Given the description of an element on the screen output the (x, y) to click on. 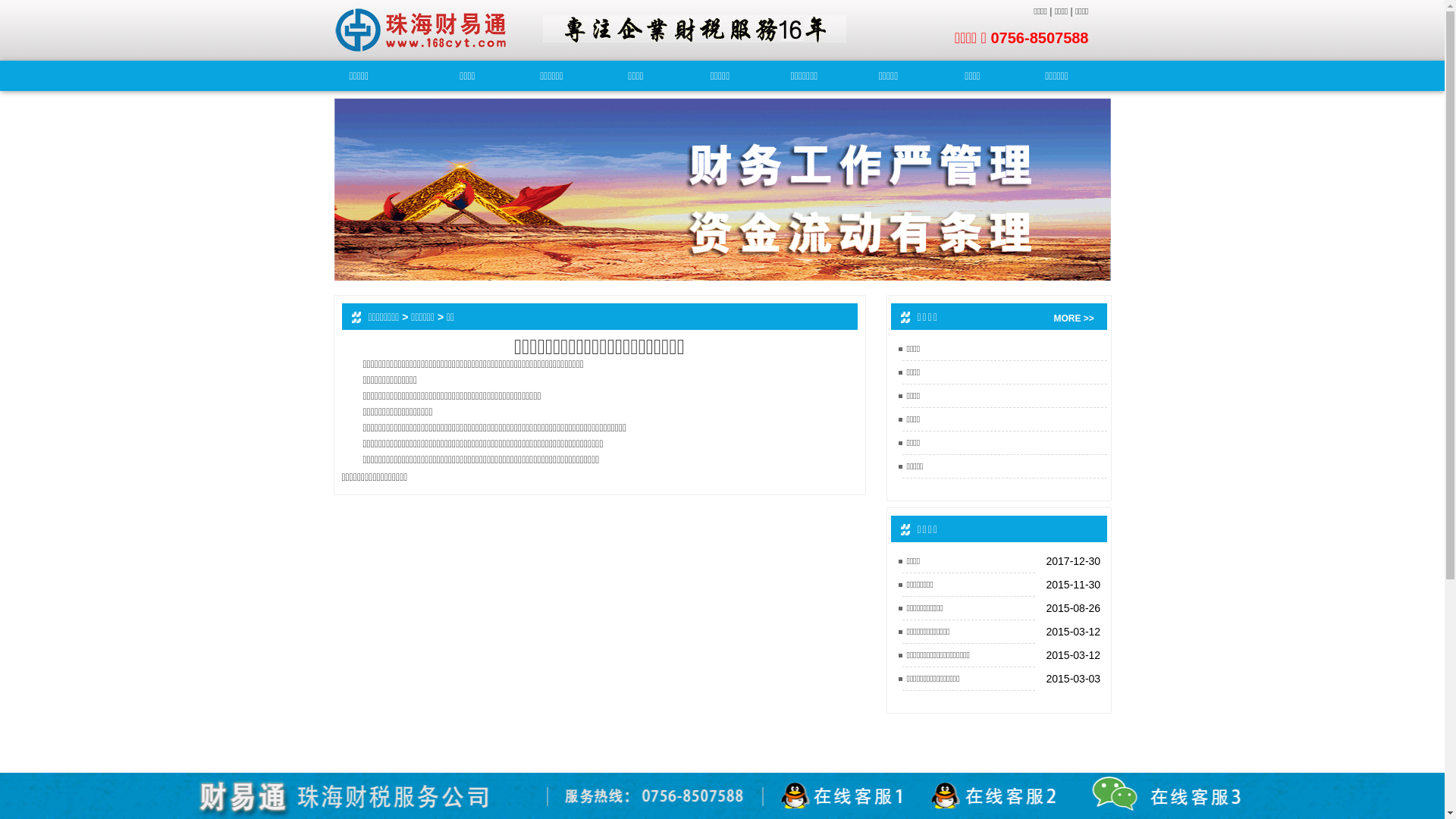
MORE >> Element type: text (1076, 318)
